Given the description of an element on the screen output the (x, y) to click on. 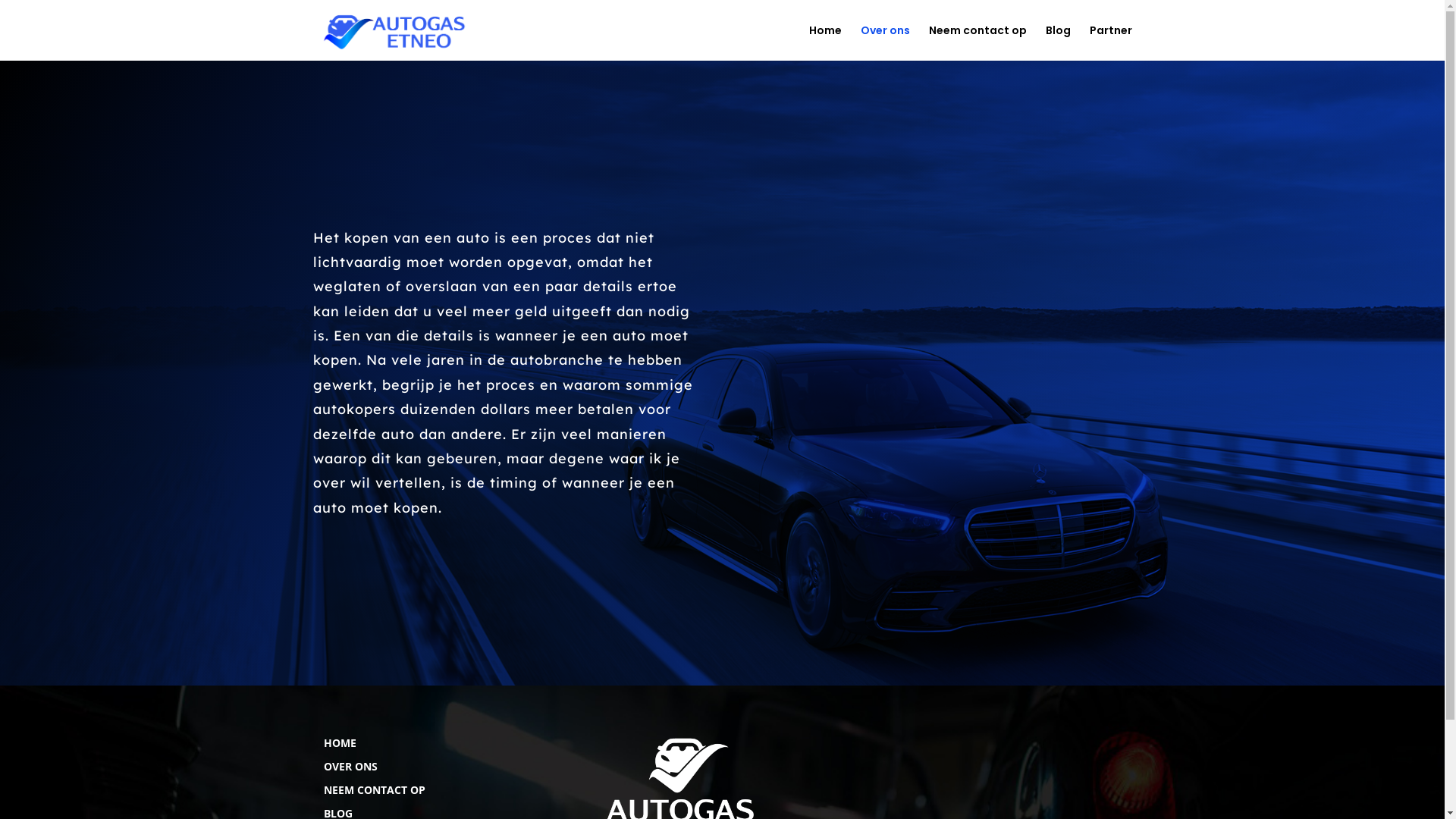
Blog Element type: text (1057, 42)
Home Element type: text (824, 42)
HOME Element type: text (339, 742)
NEEM CONTACT OP Element type: text (373, 789)
Neem contact op Element type: text (977, 42)
Partner Element type: text (1109, 42)
OVER ONS Element type: text (349, 766)
Over ons Element type: text (884, 42)
